Given the description of an element on the screen output the (x, y) to click on. 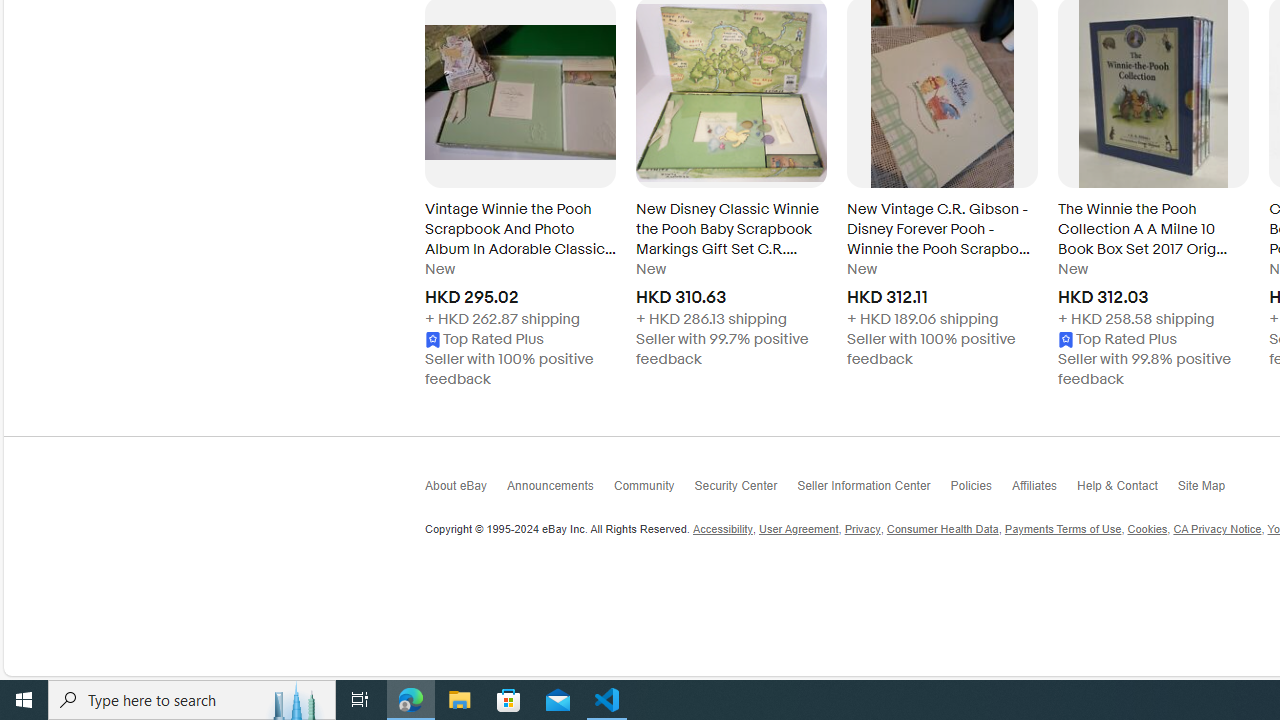
Seller Information Center (874, 490)
Announcements (560, 490)
Security Center (745, 490)
Community (654, 491)
Privacy (861, 529)
Payments Terms of Use (1062, 529)
Site Map (1211, 491)
Policies (980, 491)
Affiliates (1044, 490)
Site Map (1211, 490)
Cookies (1146, 529)
